Given the description of an element on the screen output the (x, y) to click on. 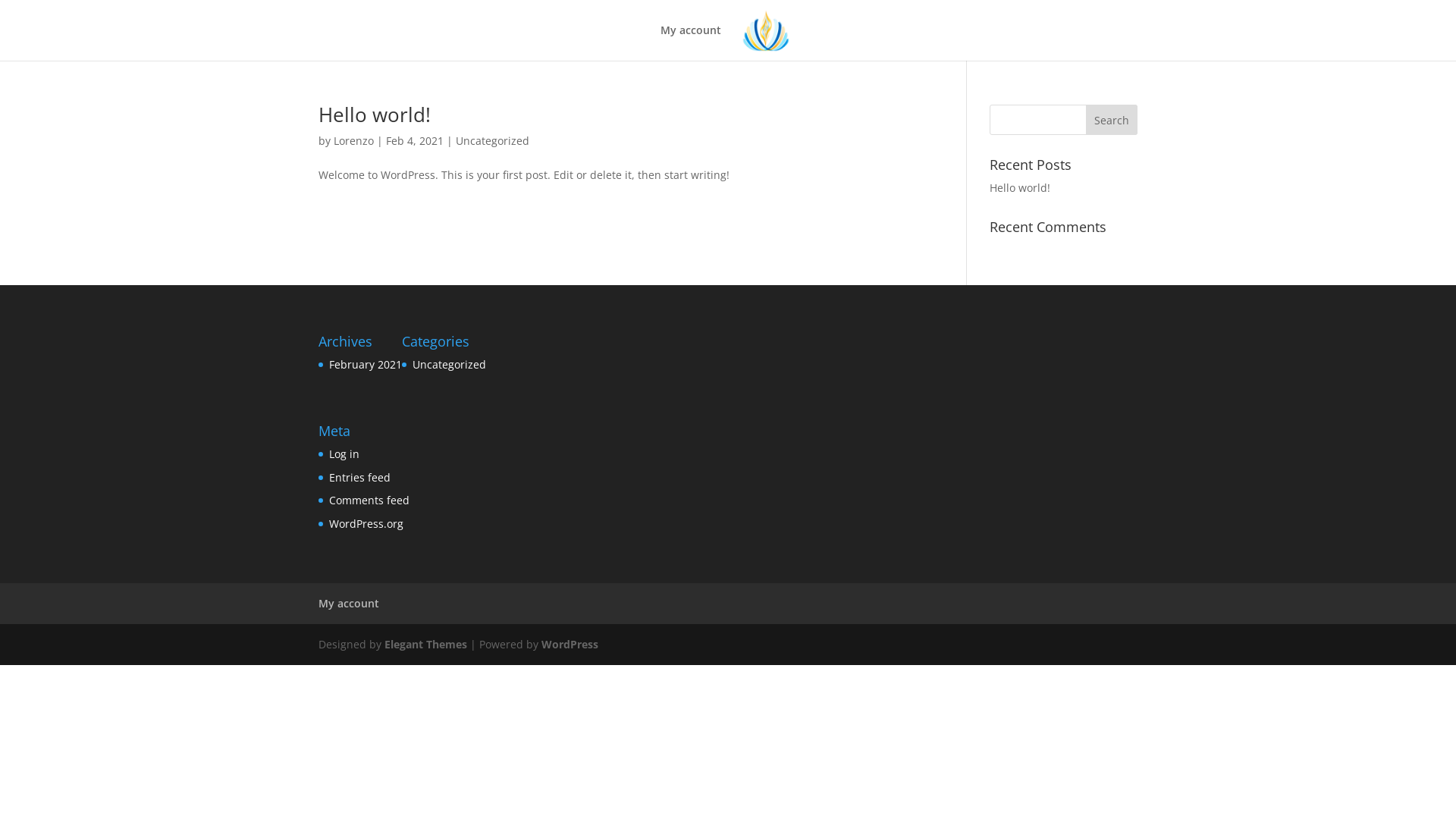
Hello world! Element type: text (1019, 187)
Uncategorized Element type: text (492, 140)
Log in Element type: text (344, 453)
Lorenzo Element type: text (353, 140)
February 2021 Element type: text (365, 364)
Entries feed Element type: text (359, 477)
Elegant Themes Element type: text (425, 644)
Uncategorized Element type: text (449, 364)
Search Element type: text (1111, 119)
WordPress Element type: text (569, 644)
My account Element type: text (348, 603)
WordPress.org Element type: text (366, 523)
My account Element type: text (690, 42)
Comments feed Element type: text (369, 499)
Hello world! Element type: text (374, 114)
